Given the description of an element on the screen output the (x, y) to click on. 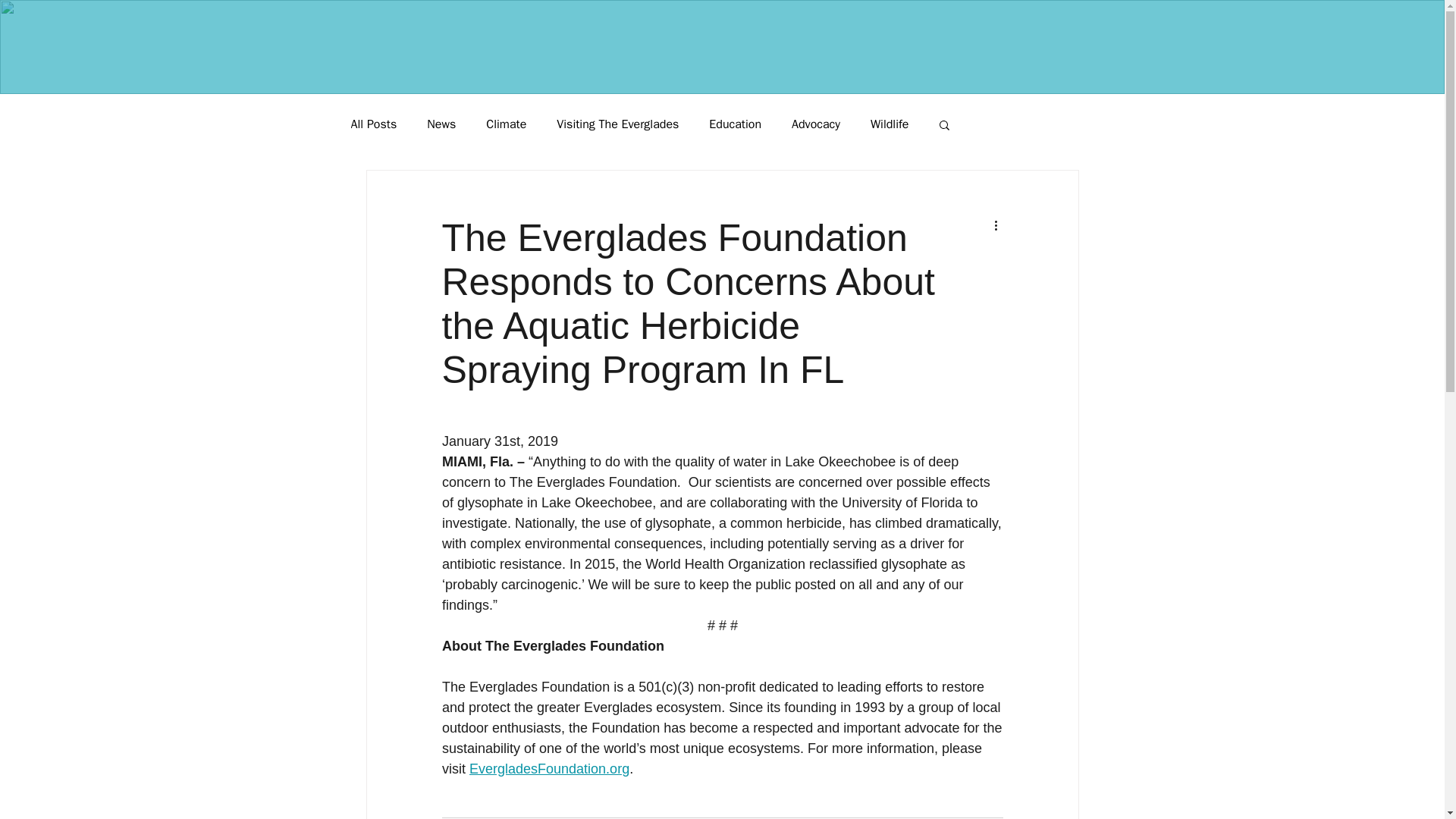
News (440, 124)
Wildlife (889, 124)
Advocacy (816, 124)
Education (735, 124)
All Posts (373, 124)
Visiting The Everglades (617, 124)
Climate (505, 124)
